Given the description of an element on the screen output the (x, y) to click on. 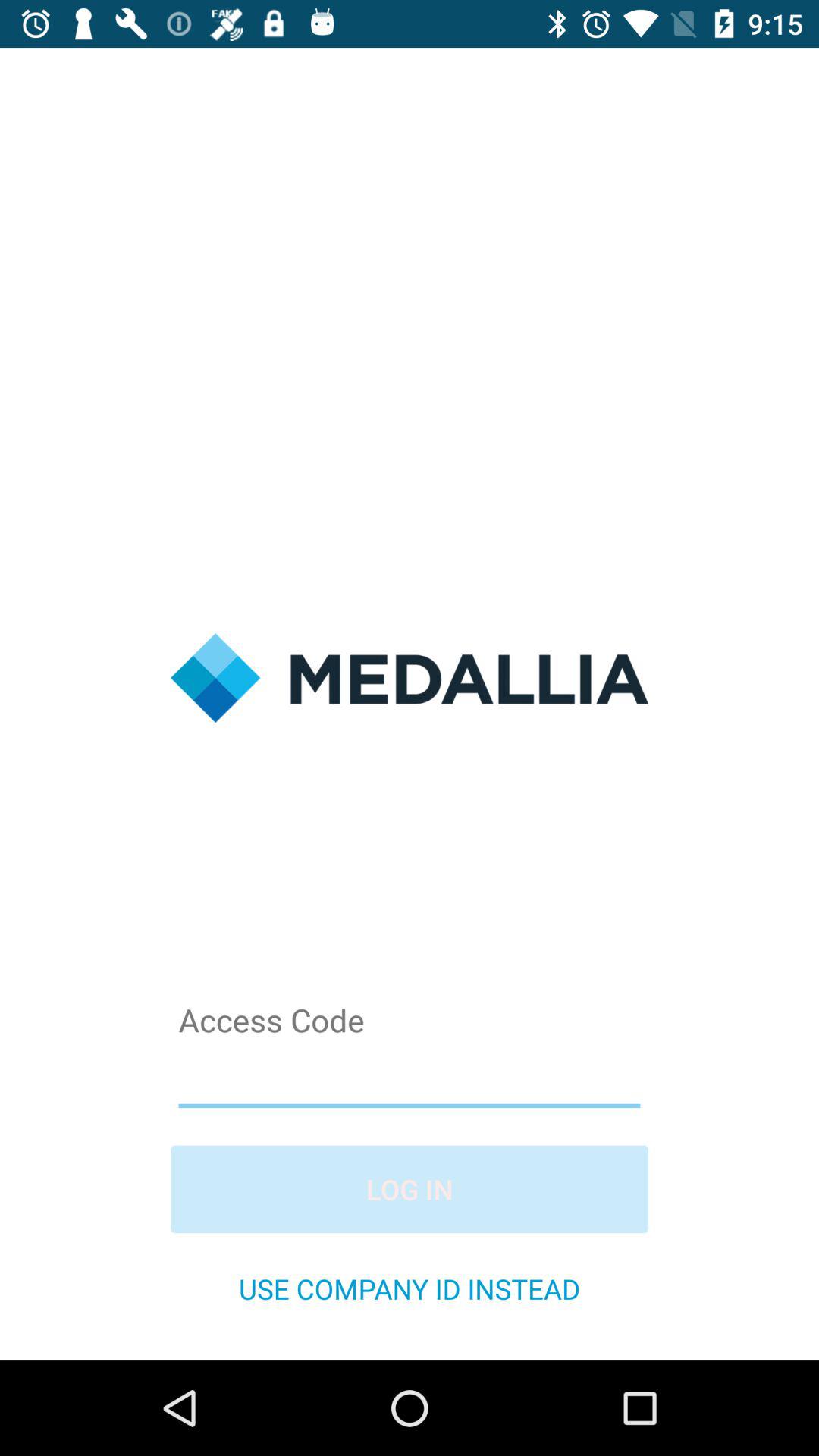
enter acess code (409, 1076)
